Given the description of an element on the screen output the (x, y) to click on. 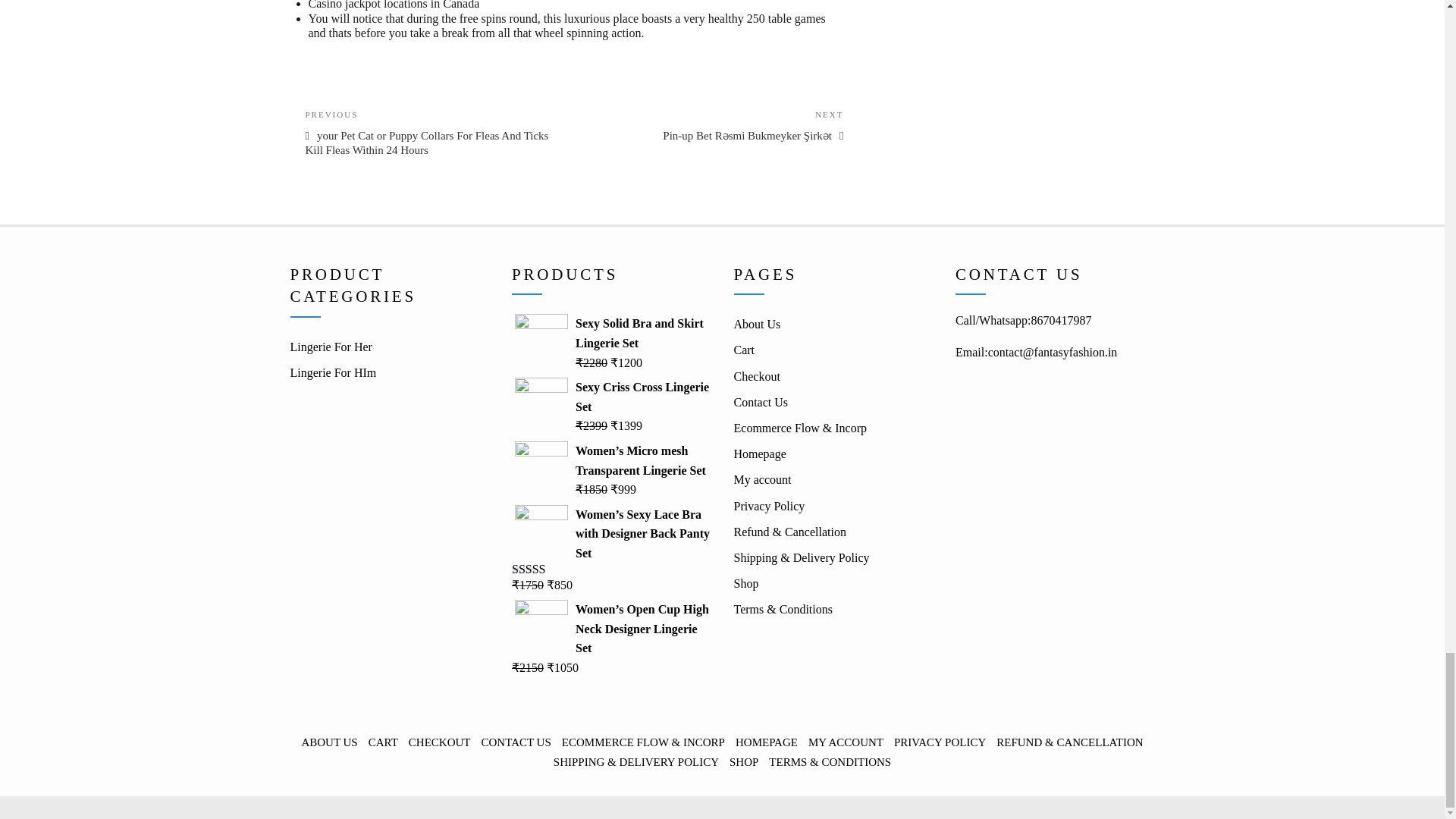
Lingerie For Her (330, 346)
